Given the description of an element on the screen output the (x, y) to click on. 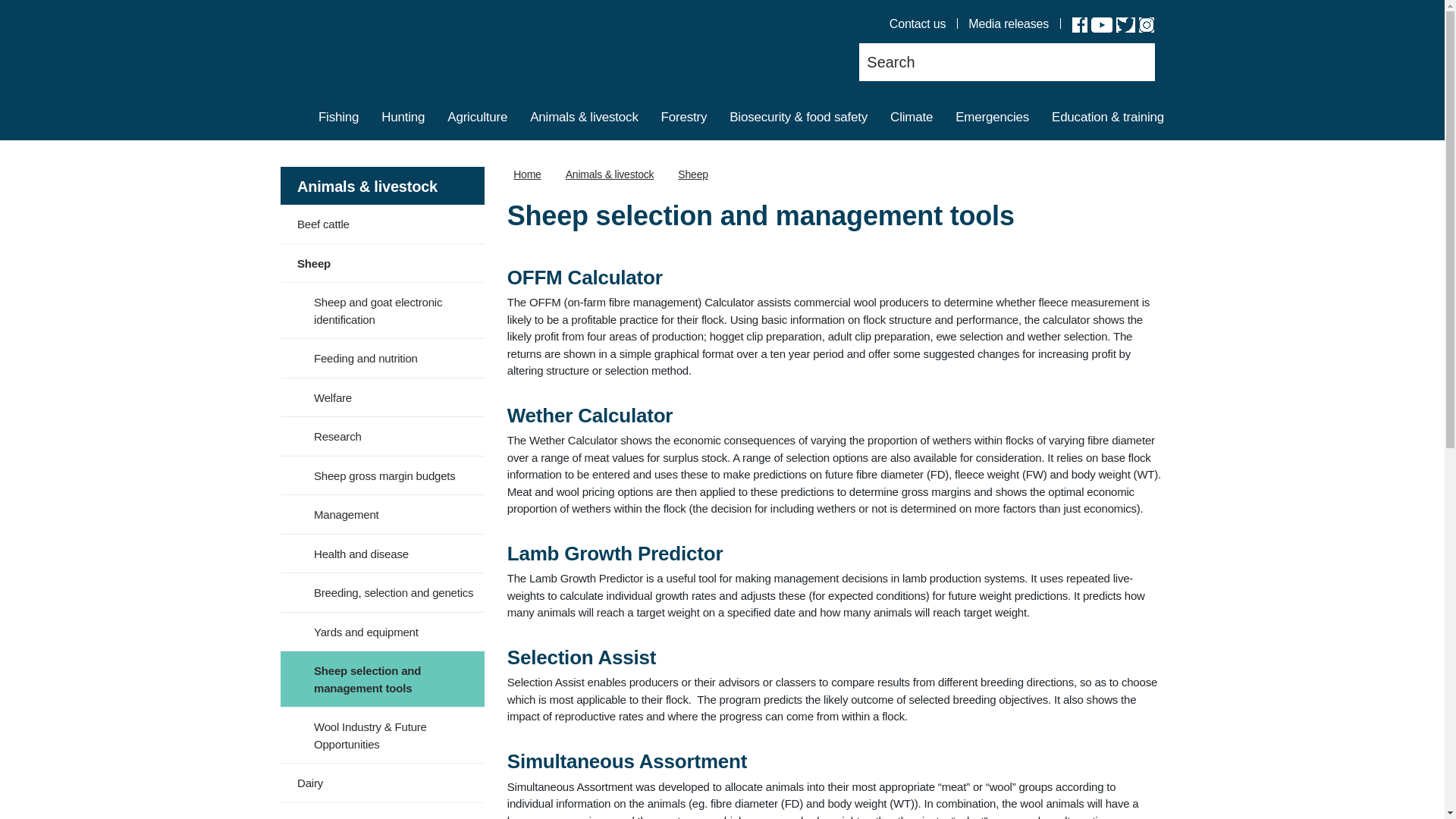
Go (1129, 62)
Fishing (338, 119)
Hunting (402, 119)
Media releases (1008, 24)
Contact us (916, 24)
Go (1129, 62)
Website - DPI new (307, 50)
Go (1129, 62)
